Given the description of an element on the screen output the (x, y) to click on. 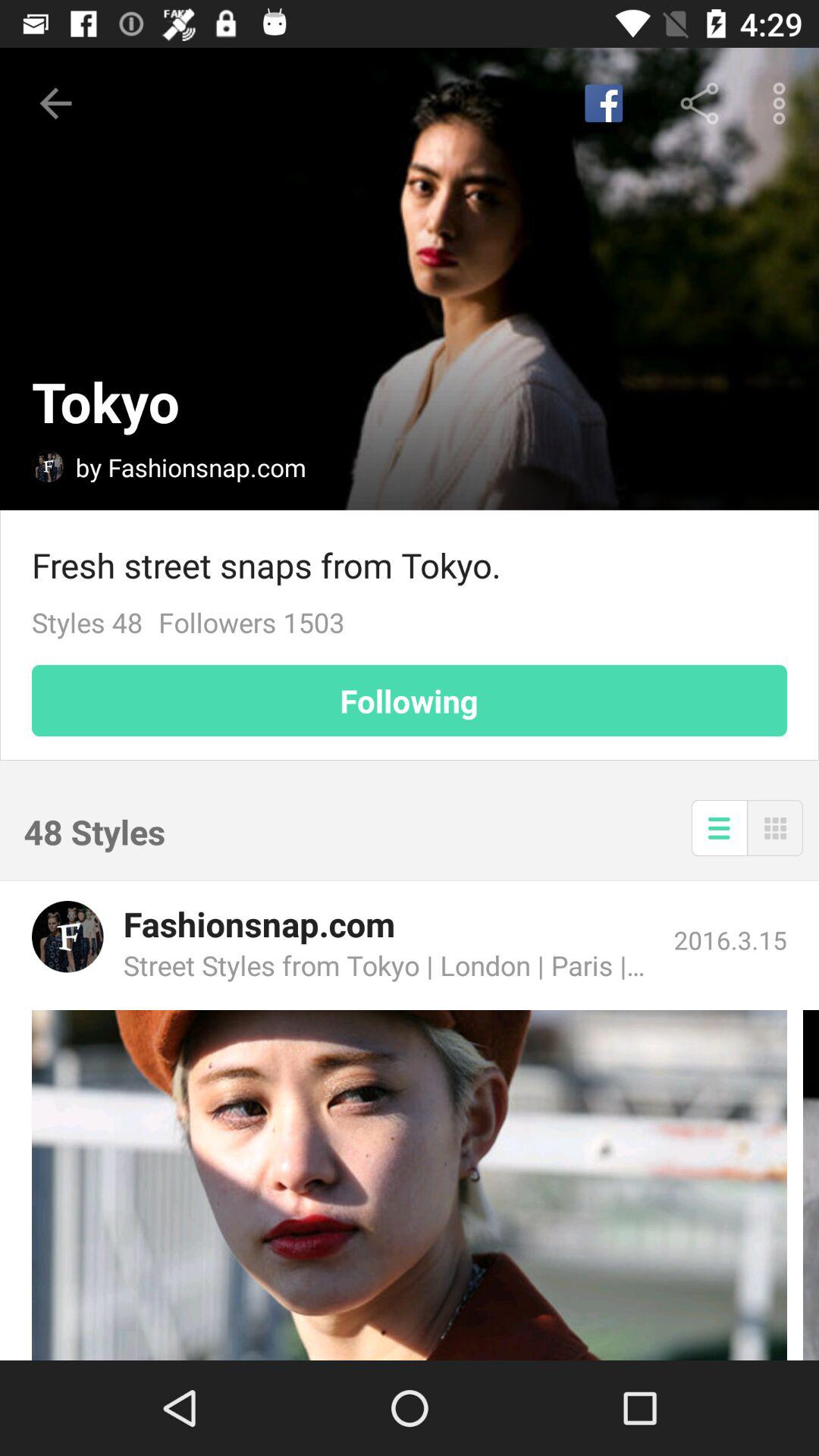
menu (775, 827)
